Given the description of an element on the screen output the (x, y) to click on. 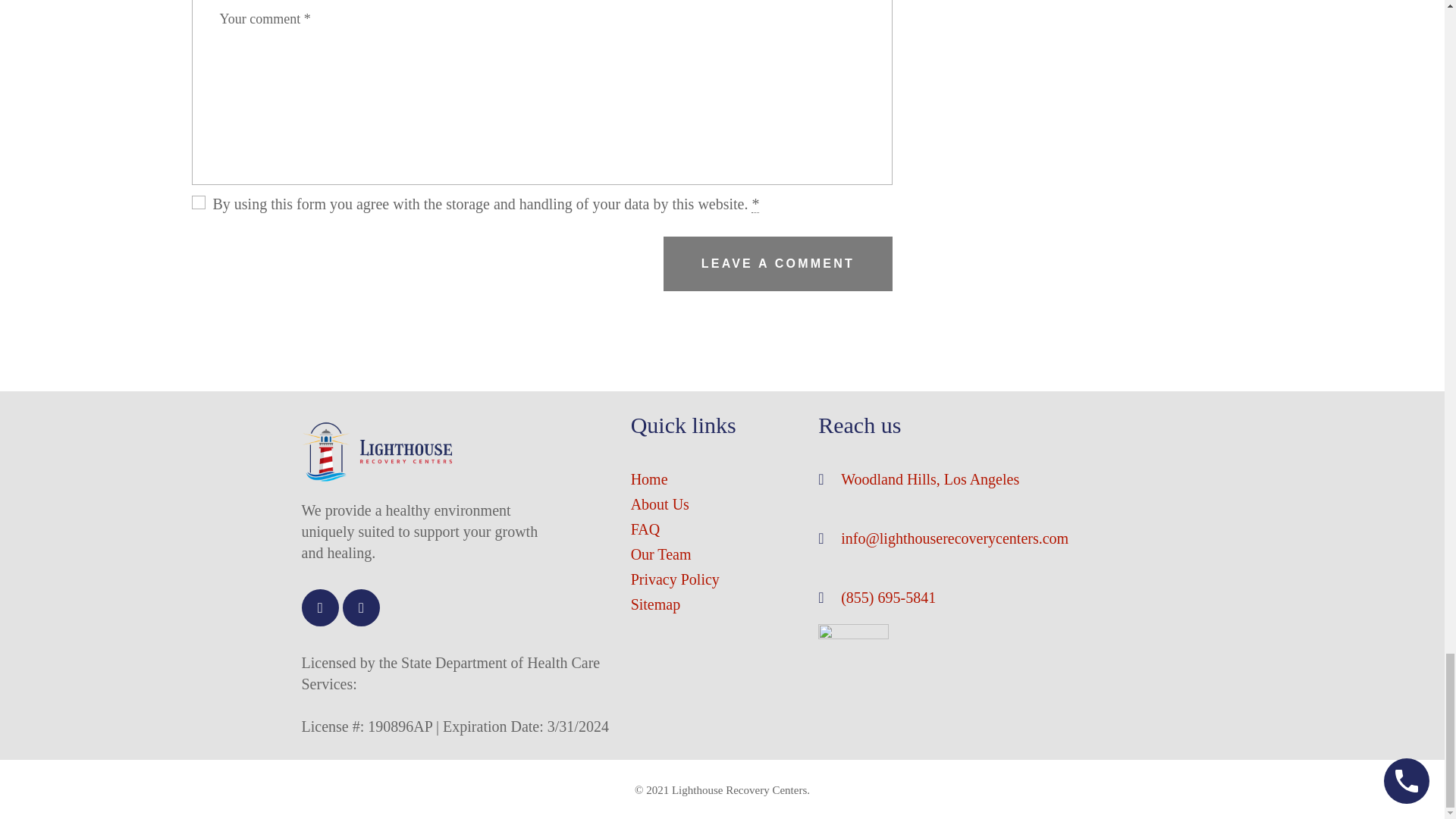
Leave a comment (777, 263)
